Given the description of an element on the screen output the (x, y) to click on. 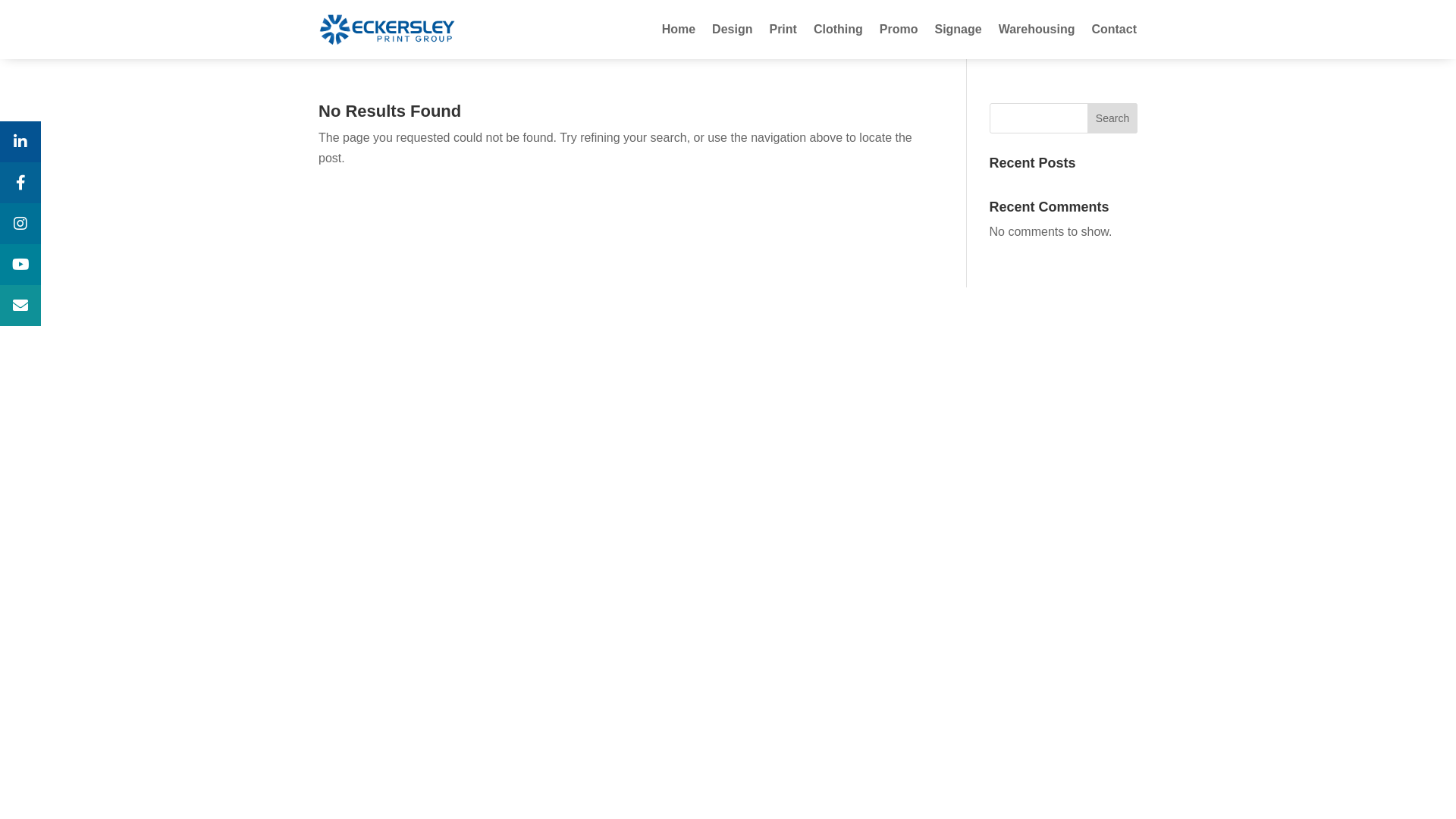
Design Element type: text (732, 29)
Warehousing Element type: text (1036, 29)
Signage Element type: text (957, 29)
Clothing Element type: text (837, 29)
Print Element type: text (782, 29)
Search Element type: text (1112, 118)
Home Element type: text (678, 29)
Promo Element type: text (898, 29)
Contact Element type: text (1113, 29)
